Given the description of an element on the screen output the (x, y) to click on. 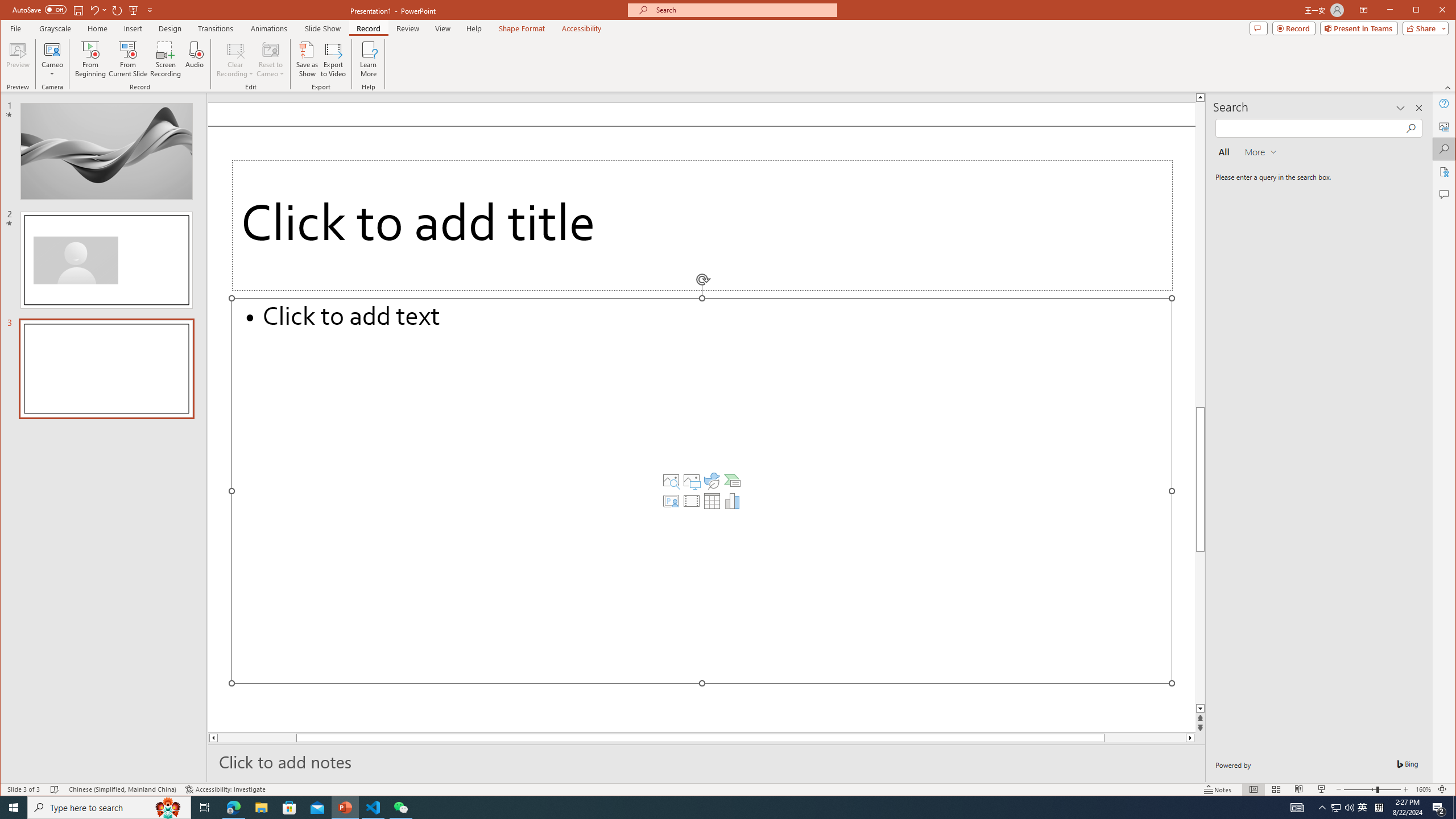
Screen Recording (1335, 807)
Preview (165, 59)
Spell Check No Errors (17, 59)
Class: MsoCommandBar (55, 789)
Tray Input Indicator - Chinese (Simplified, China) (728, 789)
Learn More (1378, 807)
Zoom (368, 59)
Reset to Cameo (1371, 789)
From Beginning... (269, 59)
Insert a SmartArt Graphic (90, 59)
Content Placeholder (732, 480)
Line down (701, 490)
